Given the description of an element on the screen output the (x, y) to click on. 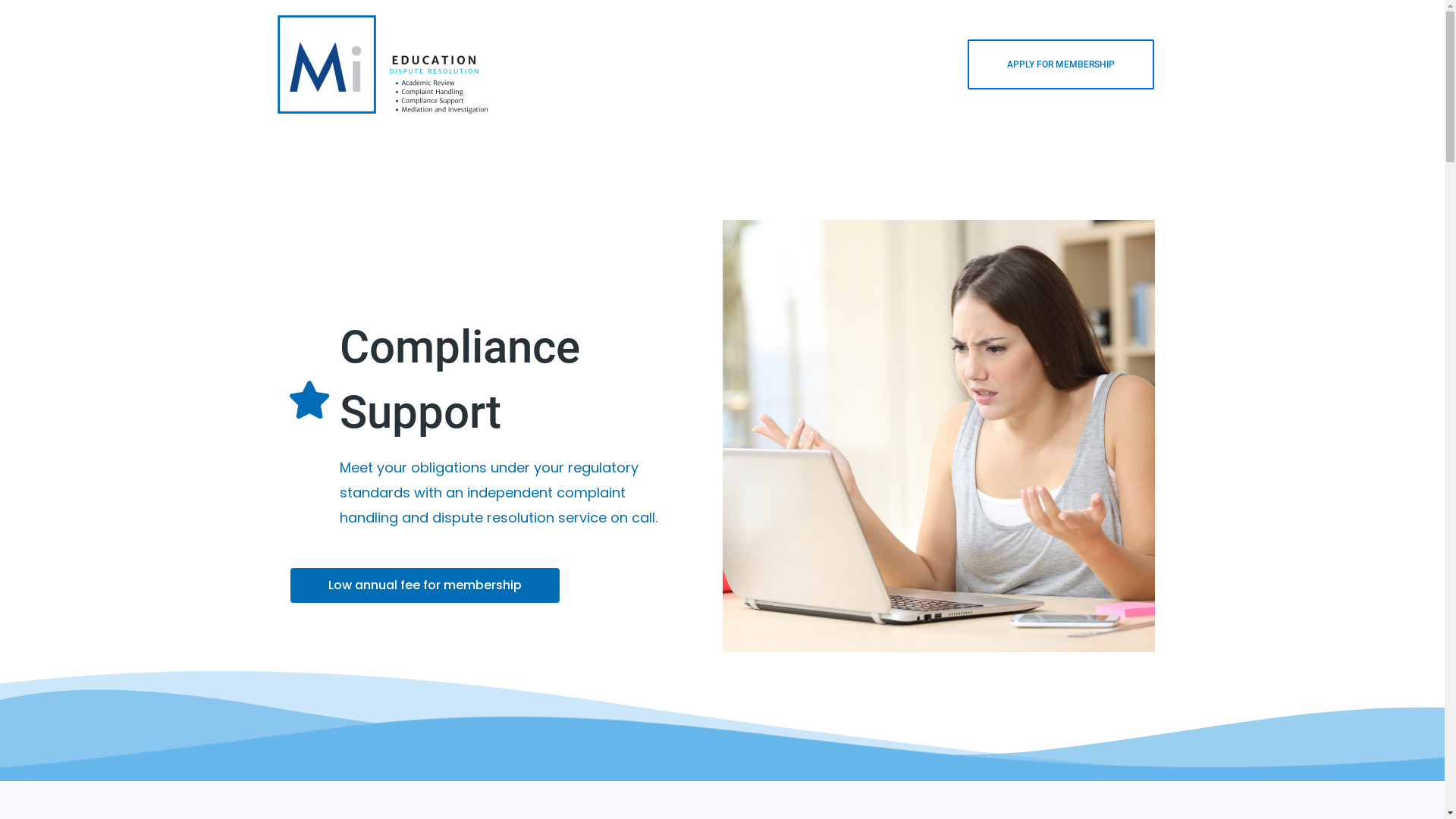
Low annual fee for membership Element type: text (423, 584)
APPLY FOR MEMBERSHIP Element type: text (1060, 64)
